Given the description of an element on the screen output the (x, y) to click on. 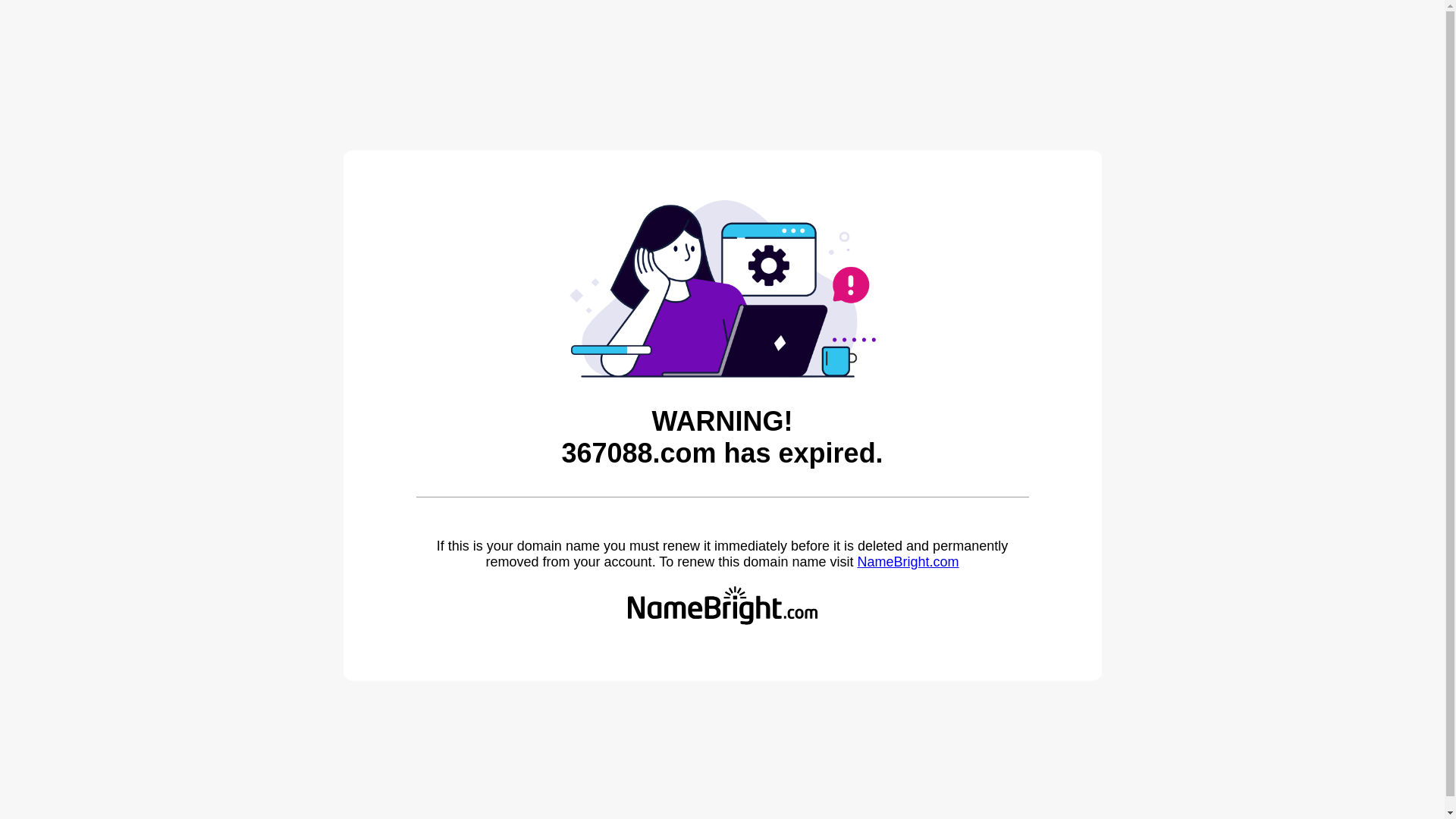
NameBright.com Element type: text (907, 561)
